Given the description of an element on the screen output the (x, y) to click on. 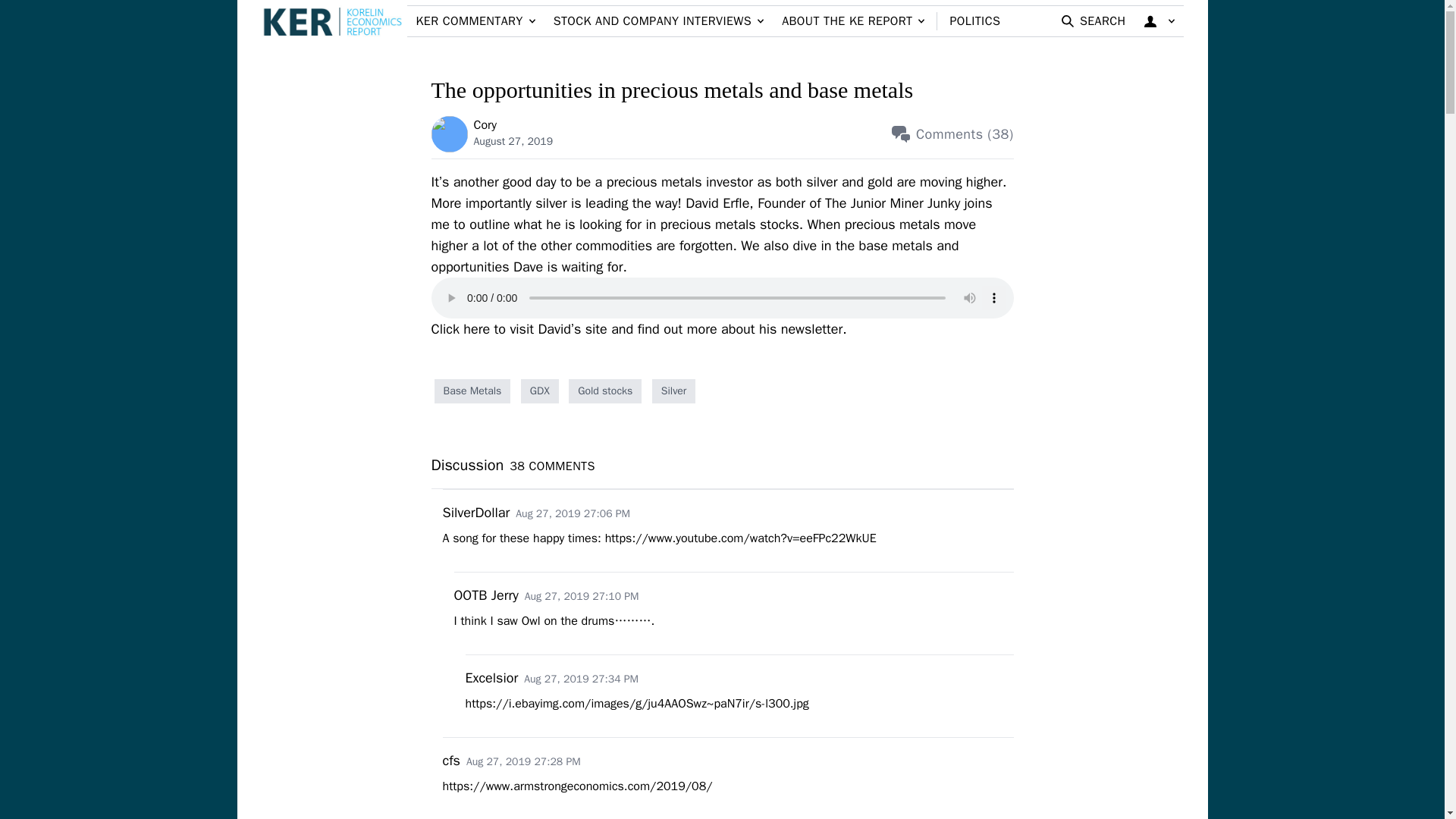
KER COMMENTARY (474, 20)
Base Metals (472, 391)
ABOUT THE KE REPORT (853, 20)
Gold stocks (605, 391)
Cory (484, 124)
POLITICS (974, 21)
Excelsior (491, 677)
Cory (451, 134)
Search (1132, 76)
GDX (540, 391)
SilverDollar (476, 512)
Silver (673, 391)
STOCK AND COMPANY INTERVIEWS (658, 20)
OOTB Jerry (485, 595)
